Given the description of an element on the screen output the (x, y) to click on. 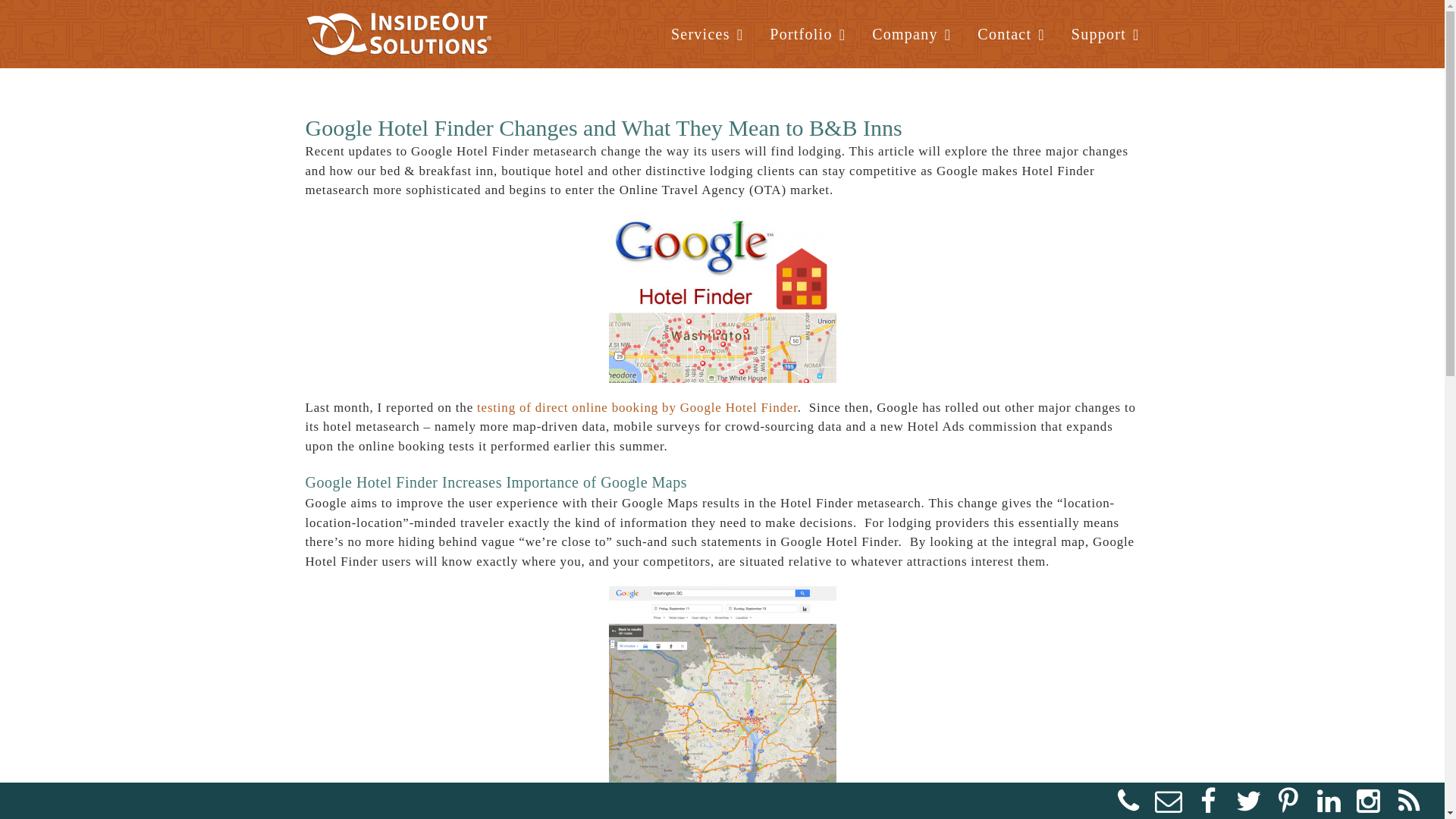
Portfolio (807, 33)
Services (706, 33)
Contact (1010, 33)
Company (911, 33)
Support (1105, 33)
